Given the description of an element on the screen output the (x, y) to click on. 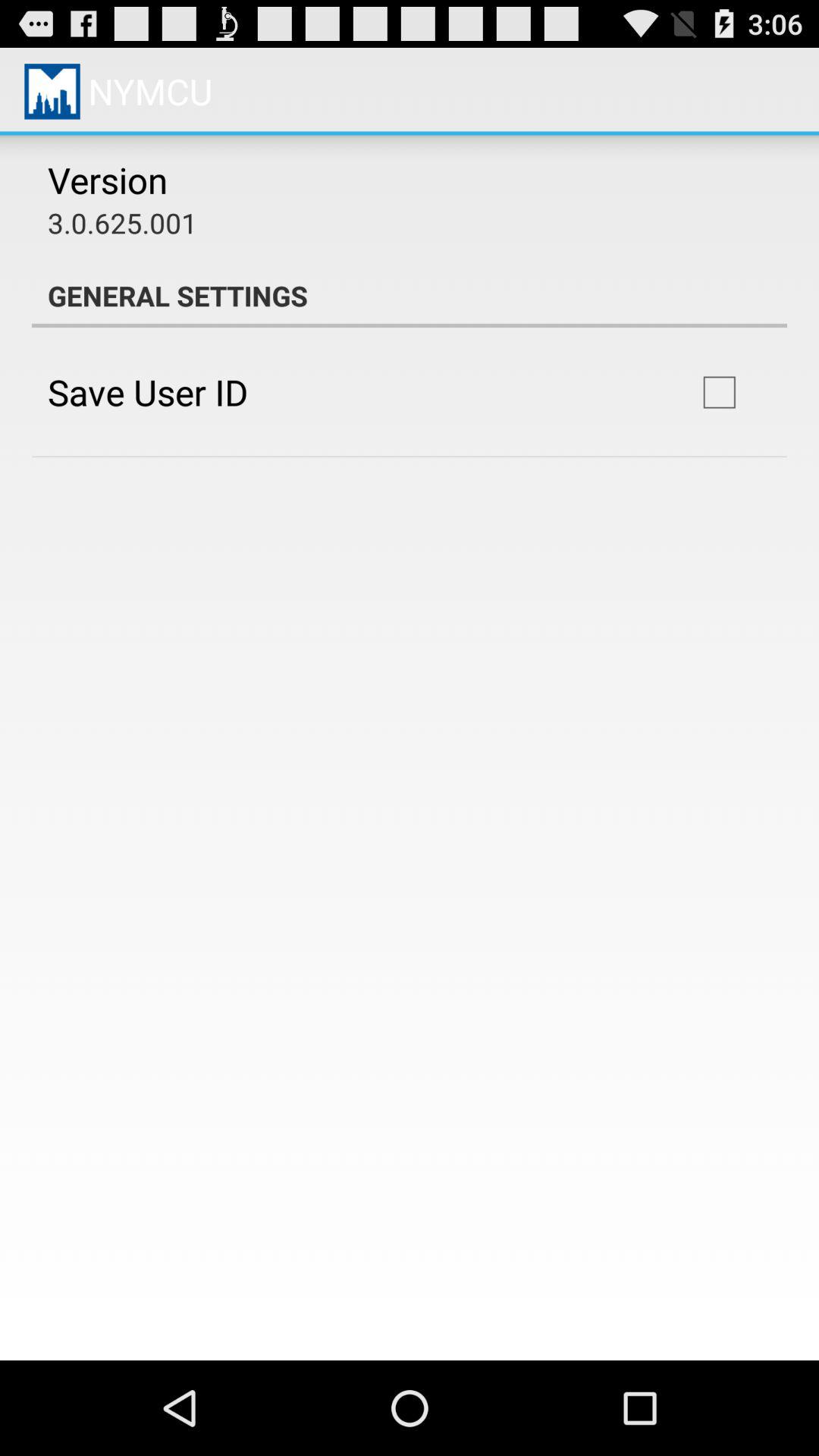
press version app (107, 179)
